Given the description of an element on the screen output the (x, y) to click on. 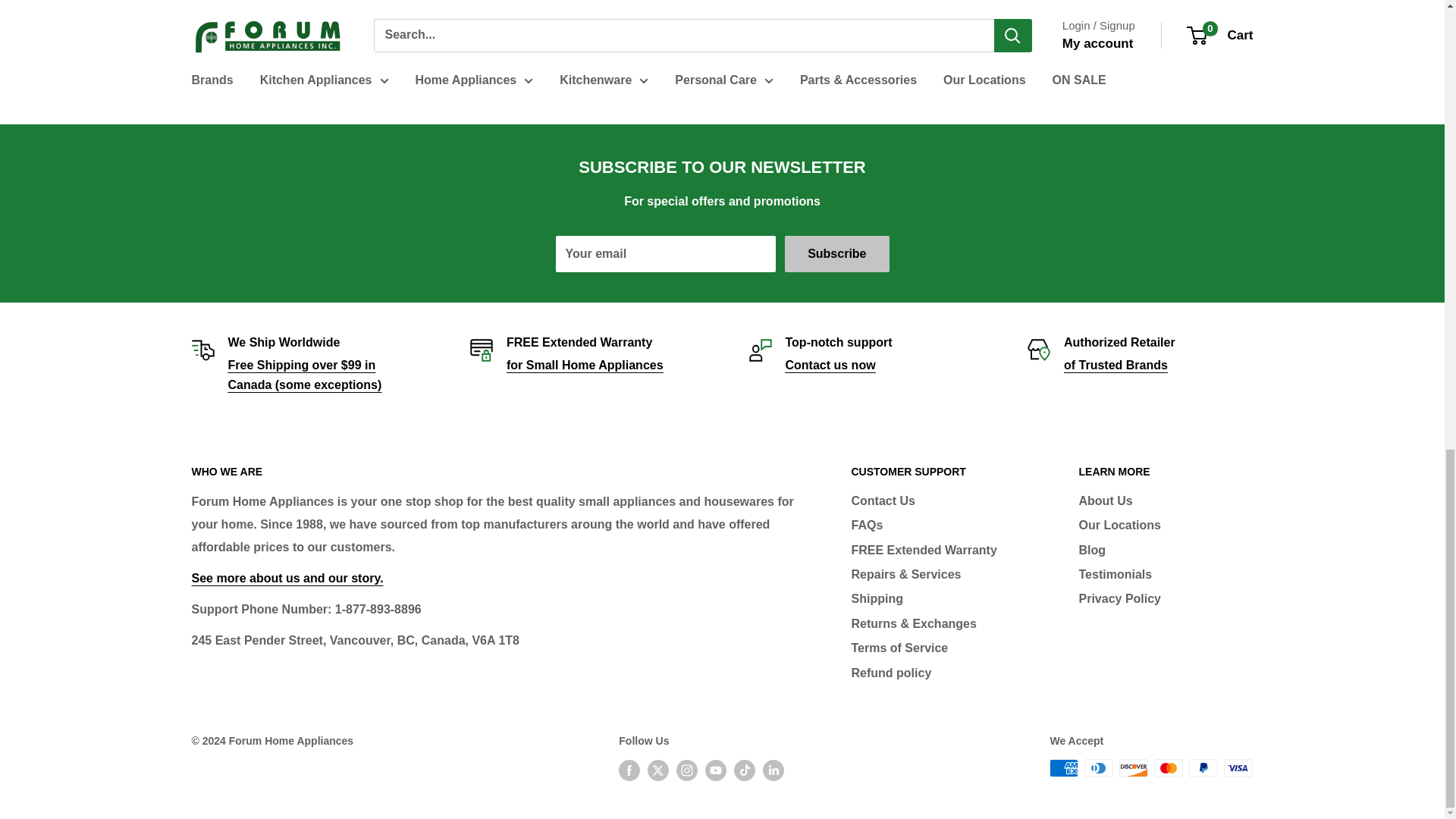
Contact Us (831, 364)
FREE Extended Warranty (584, 364)
About Us (286, 577)
Shipping Info (304, 374)
Top Brands (1115, 364)
